Given the description of an element on the screen output the (x, y) to click on. 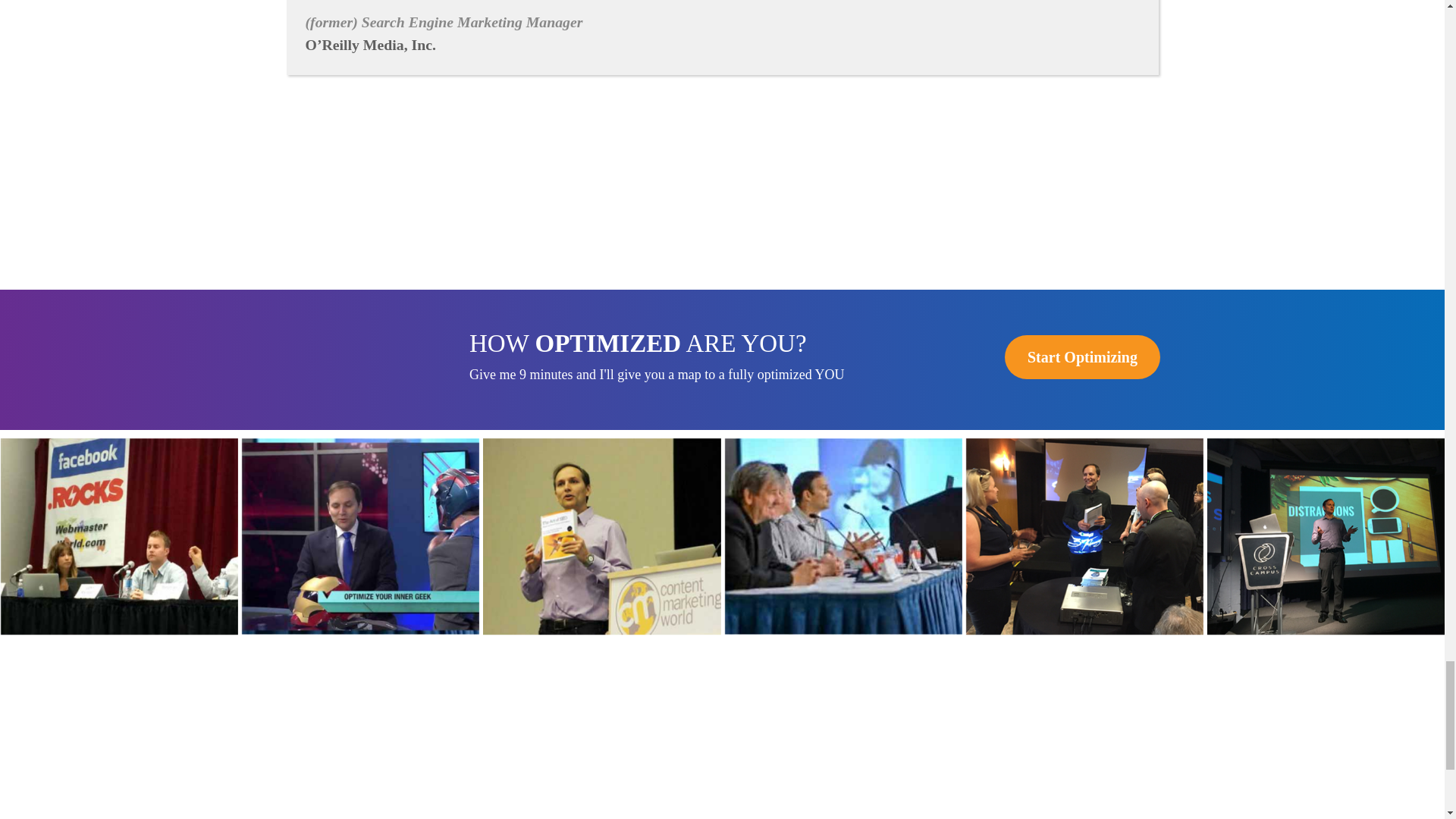
Start Optimizing (1082, 356)
